Given the description of an element on the screen output the (x, y) to click on. 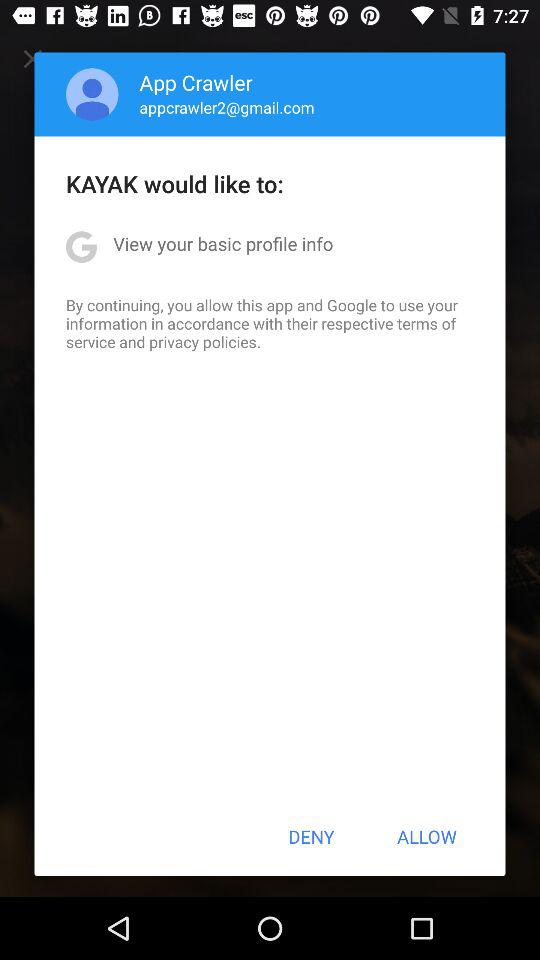
launch app crawler (195, 82)
